Given the description of an element on the screen output the (x, y) to click on. 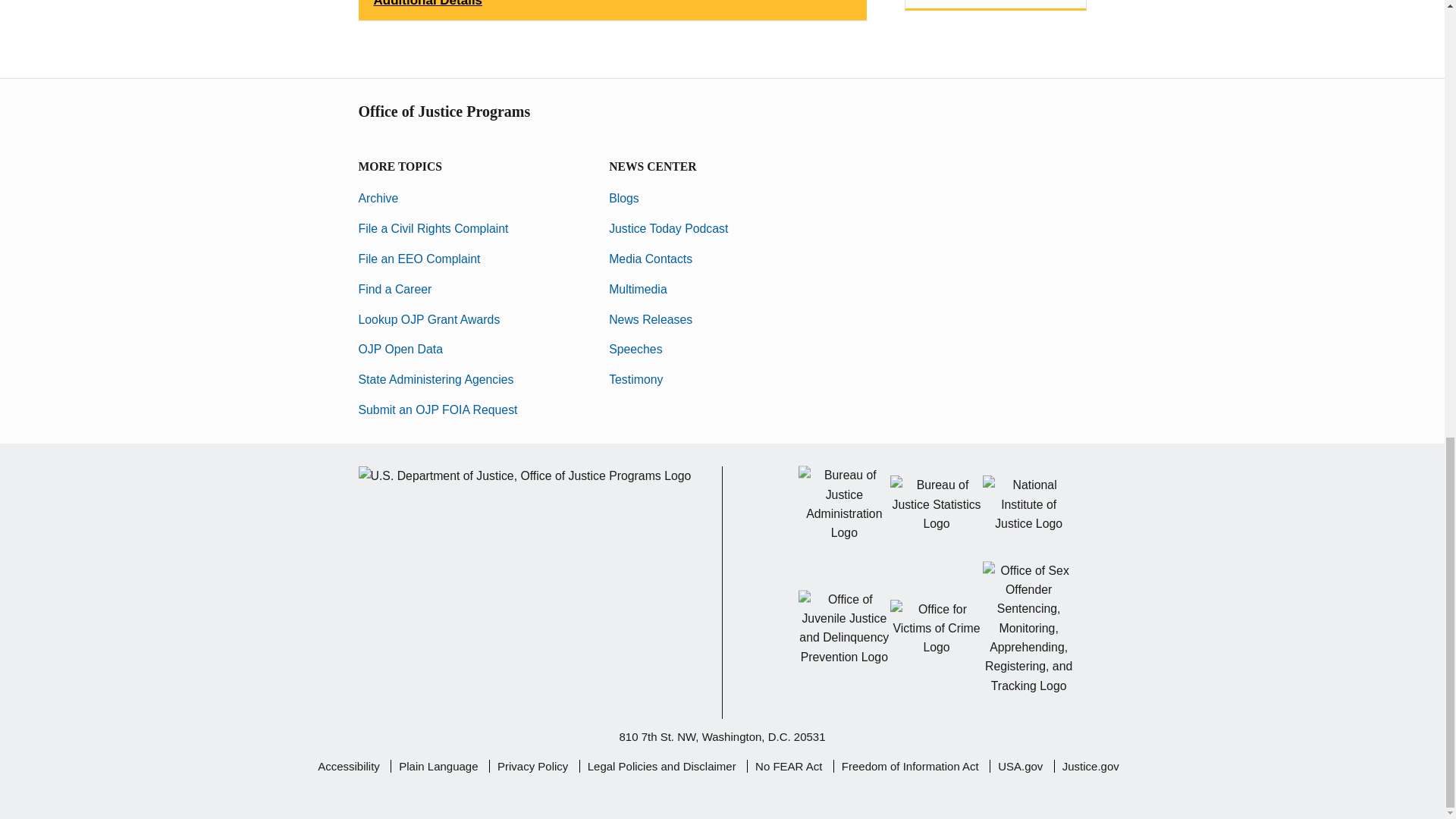
File a Civil Rights Complaint (433, 228)
Additional Details (612, 10)
File an EEO Complaint (419, 258)
Archive (377, 197)
Find a Career (394, 288)
